Given the description of an element on the screen output the (x, y) to click on. 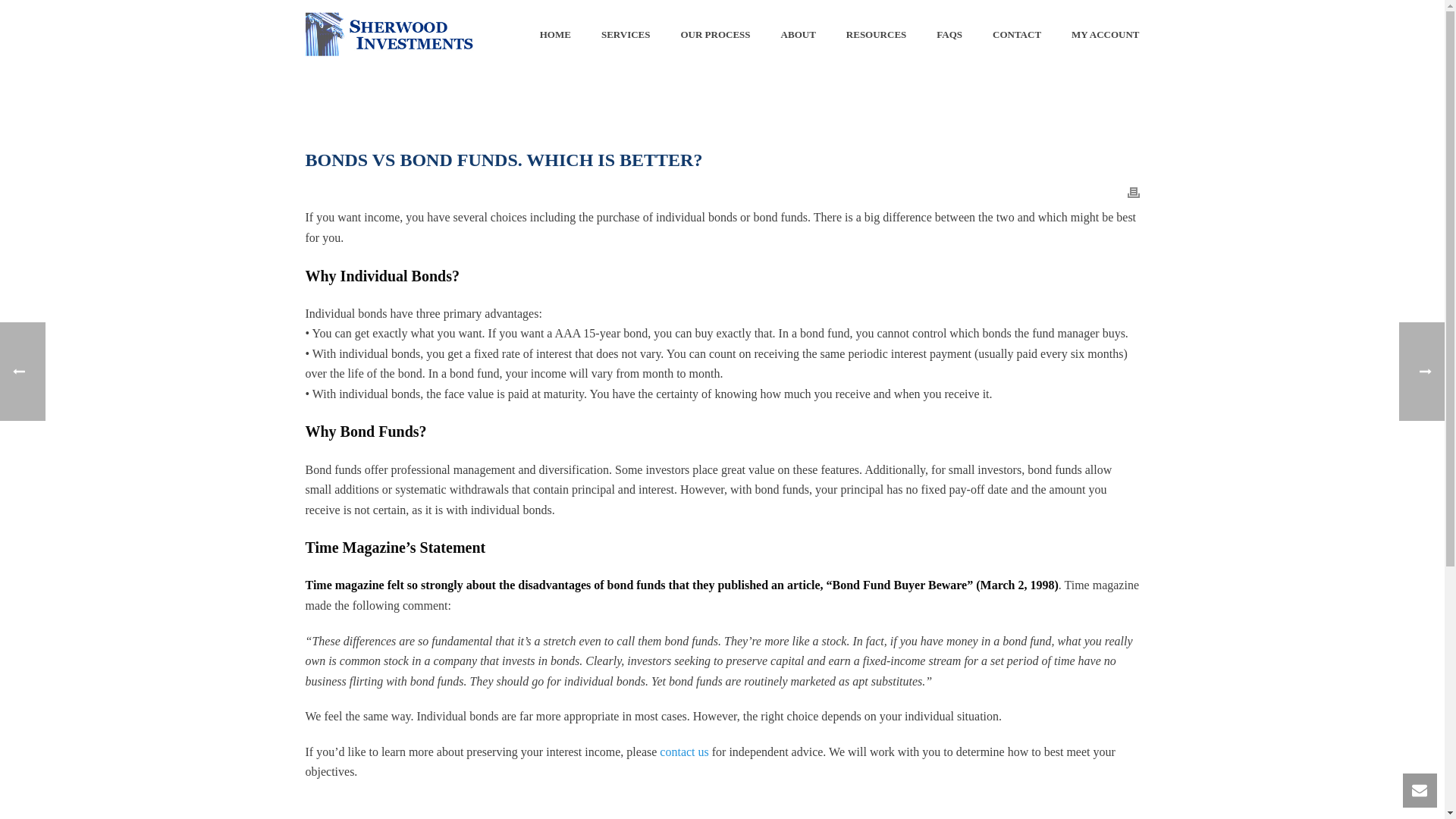
MY ACCOUNT (1105, 34)
ABOUT (798, 34)
OUR PROCESS (715, 34)
ABOUT (798, 34)
HOME (555, 34)
RESOURCES (876, 34)
OUR PROCESS (715, 34)
FAQS (948, 34)
MY ACCOUNT (1105, 34)
HOME (555, 34)
